Given the description of an element on the screen output the (x, y) to click on. 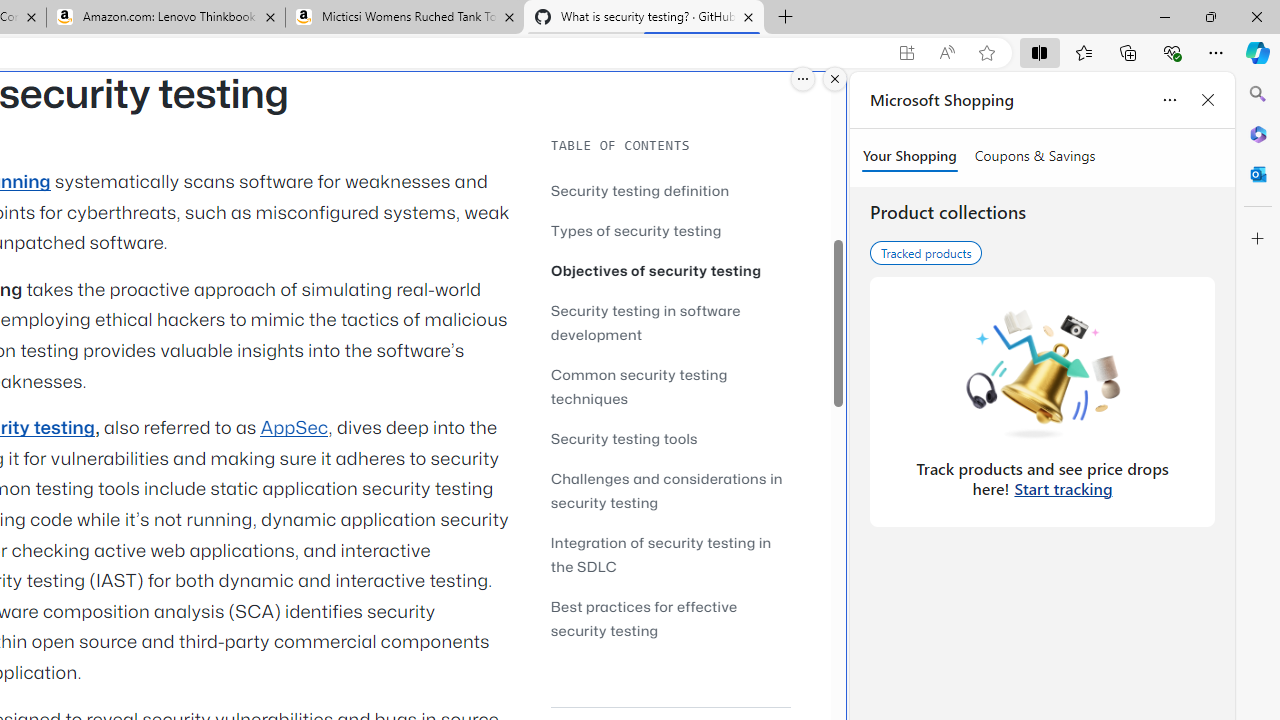
Integration of security testing in the SDLC (660, 554)
Security testing in software development (670, 322)
Objectives of security testing (655, 270)
Close split screen. (835, 79)
Common security testing techniques (670, 386)
Best practices for effective security testing (670, 618)
